Given the description of an element on the screen output the (x, y) to click on. 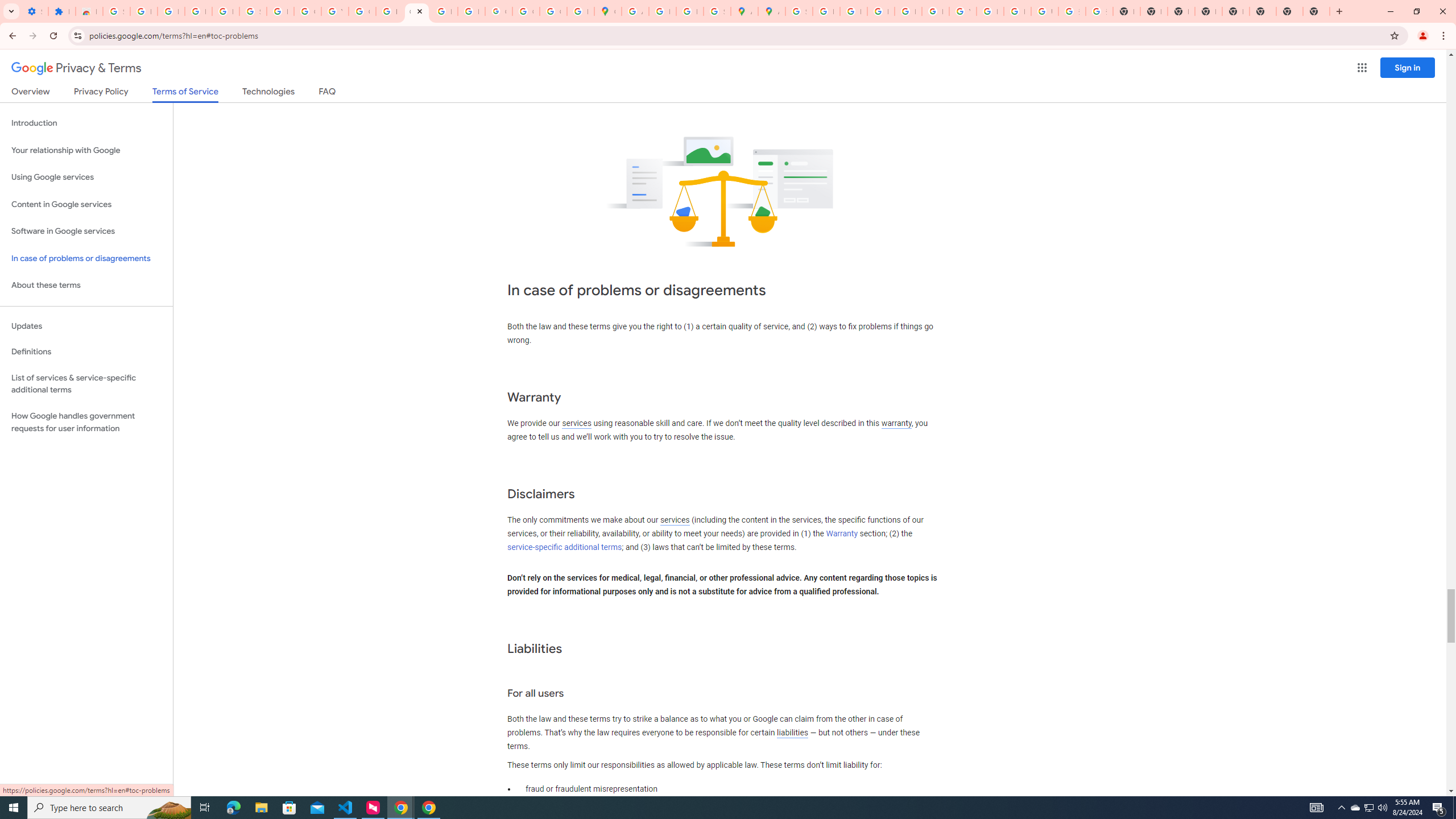
services (674, 520)
YouTube (962, 11)
New Tab (1236, 11)
